Given the description of an element on the screen output the (x, y) to click on. 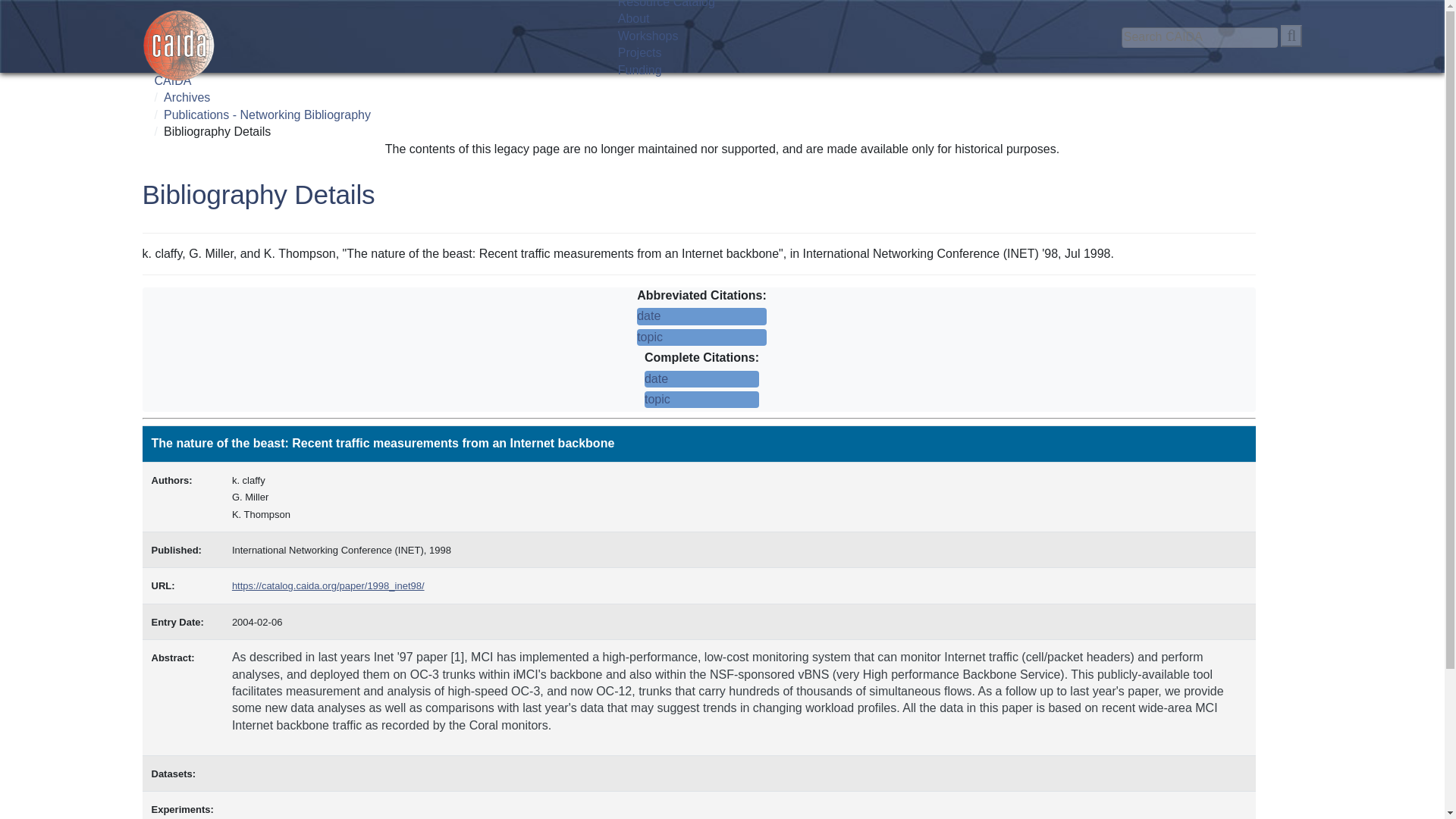
CAIDA - Center for Applied Internet Data Analysis (178, 45)
